Given the description of an element on the screen output the (x, y) to click on. 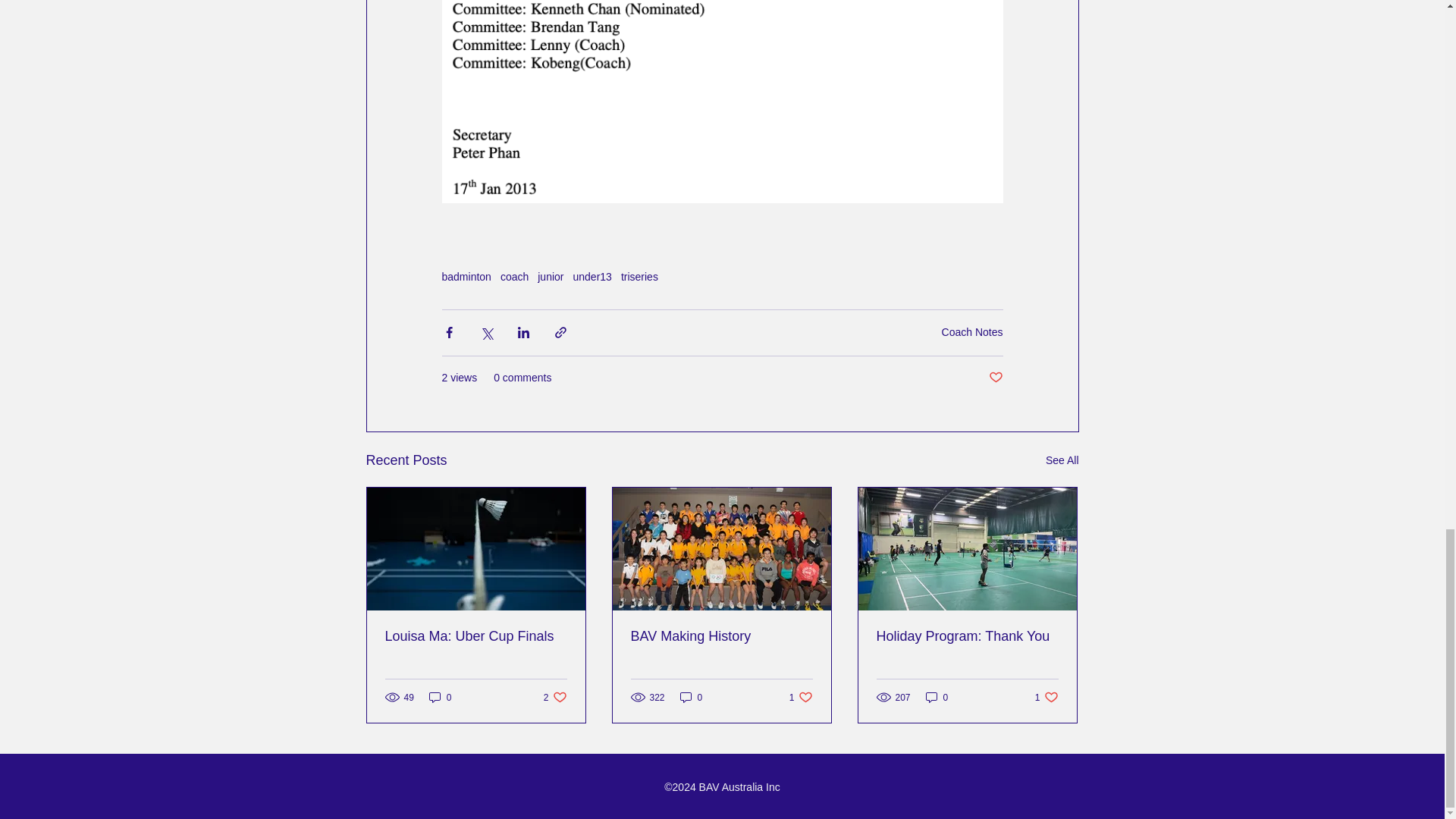
Post not marked as liked (995, 377)
coach (514, 276)
badminton (465, 276)
BAV Making History (721, 636)
0 (937, 697)
0 (440, 697)
0 (691, 697)
junior (550, 276)
